Given the description of an element on the screen output the (x, y) to click on. 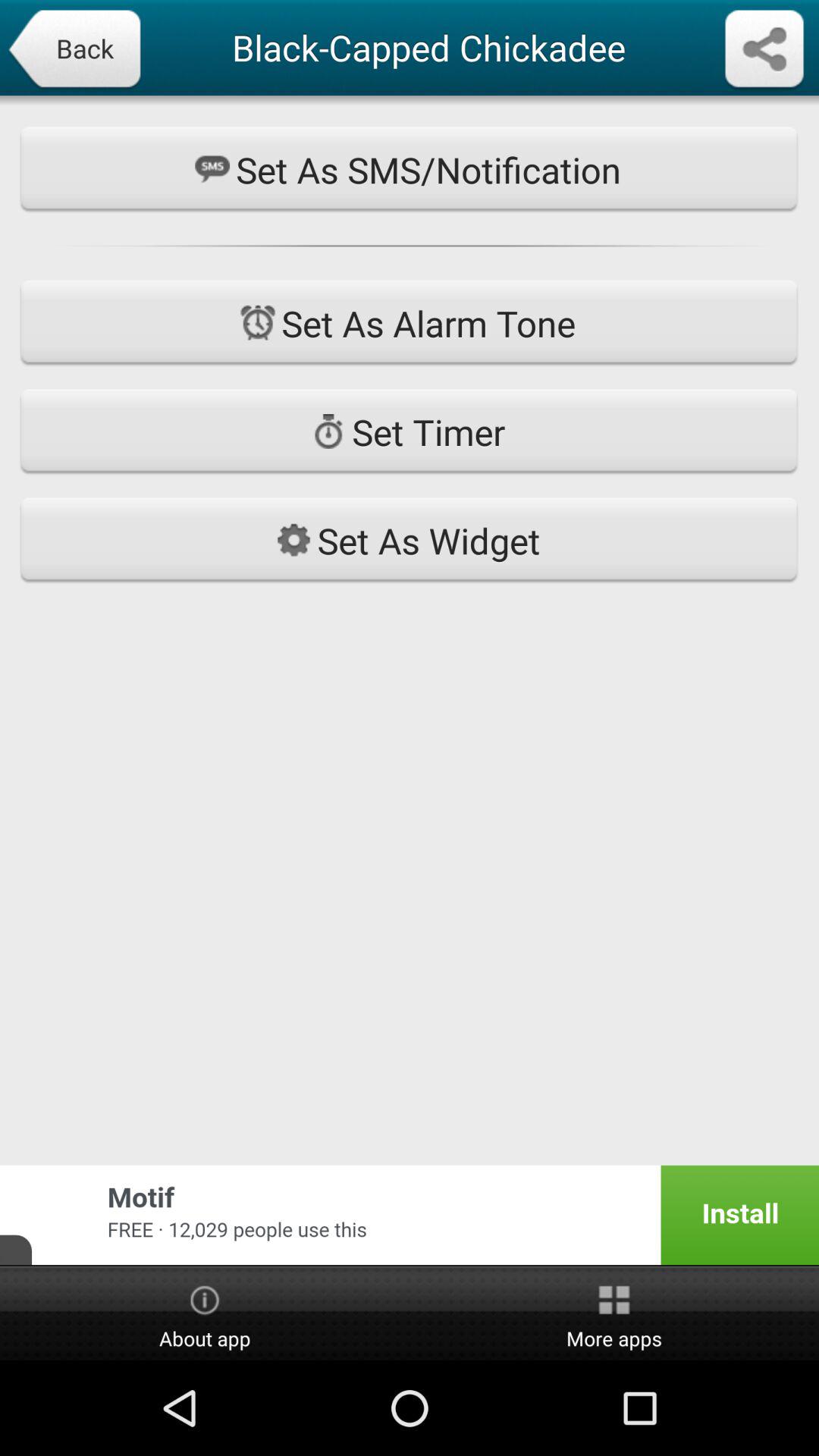
install advertisement app (409, 1214)
